Given the description of an element on the screen output the (x, y) to click on. 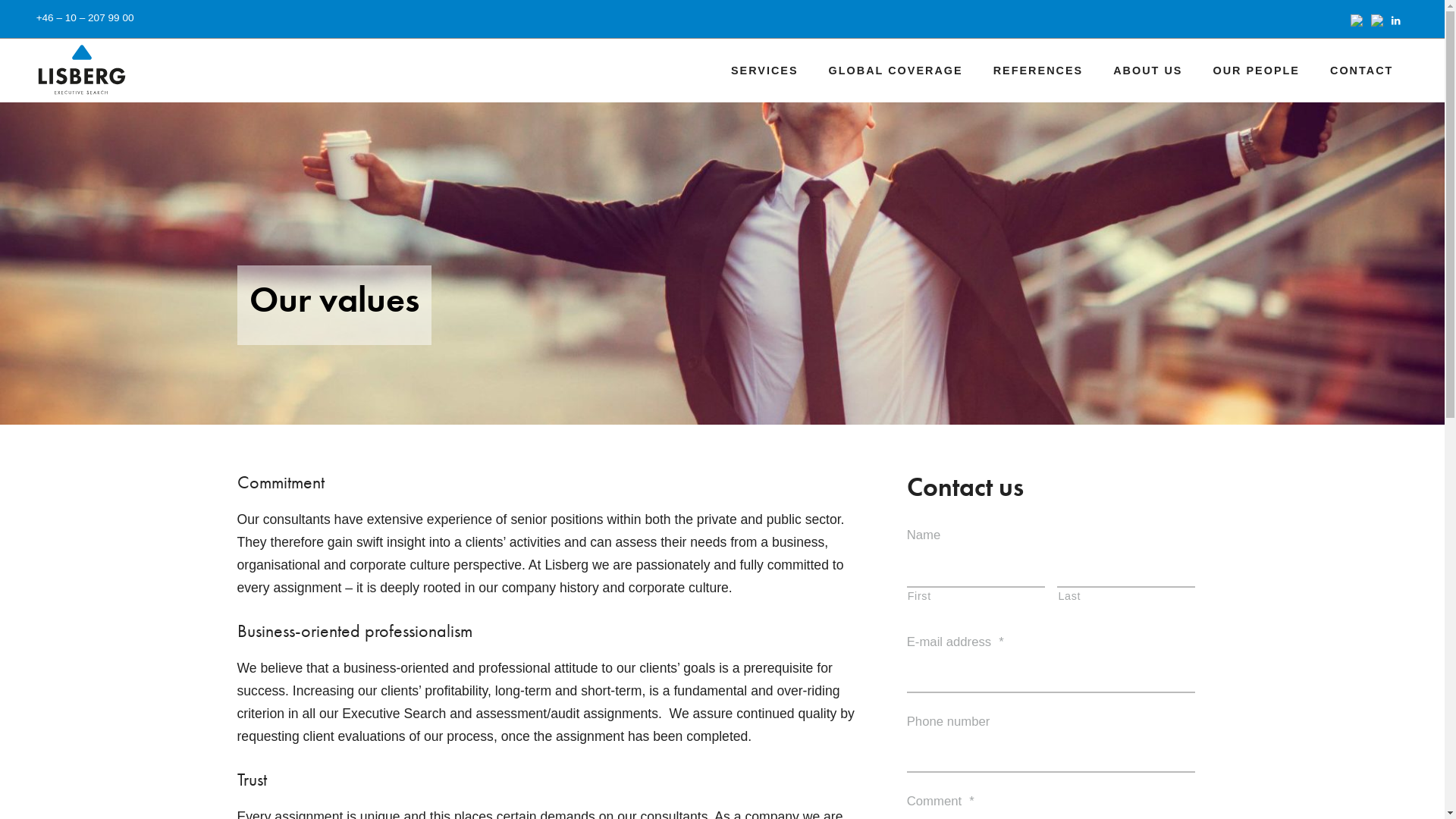
linkedin Element type: text (1398, 21)
SERVICES Element type: text (764, 70)
OUR PEOPLE Element type: text (1255, 70)
REFERENCES Element type: text (1038, 70)
CONTACT Element type: text (1361, 70)
ABOUT US Element type: text (1147, 70)
GLOBAL COVERAGE Element type: text (895, 70)
